Given the description of an element on the screen output the (x, y) to click on. 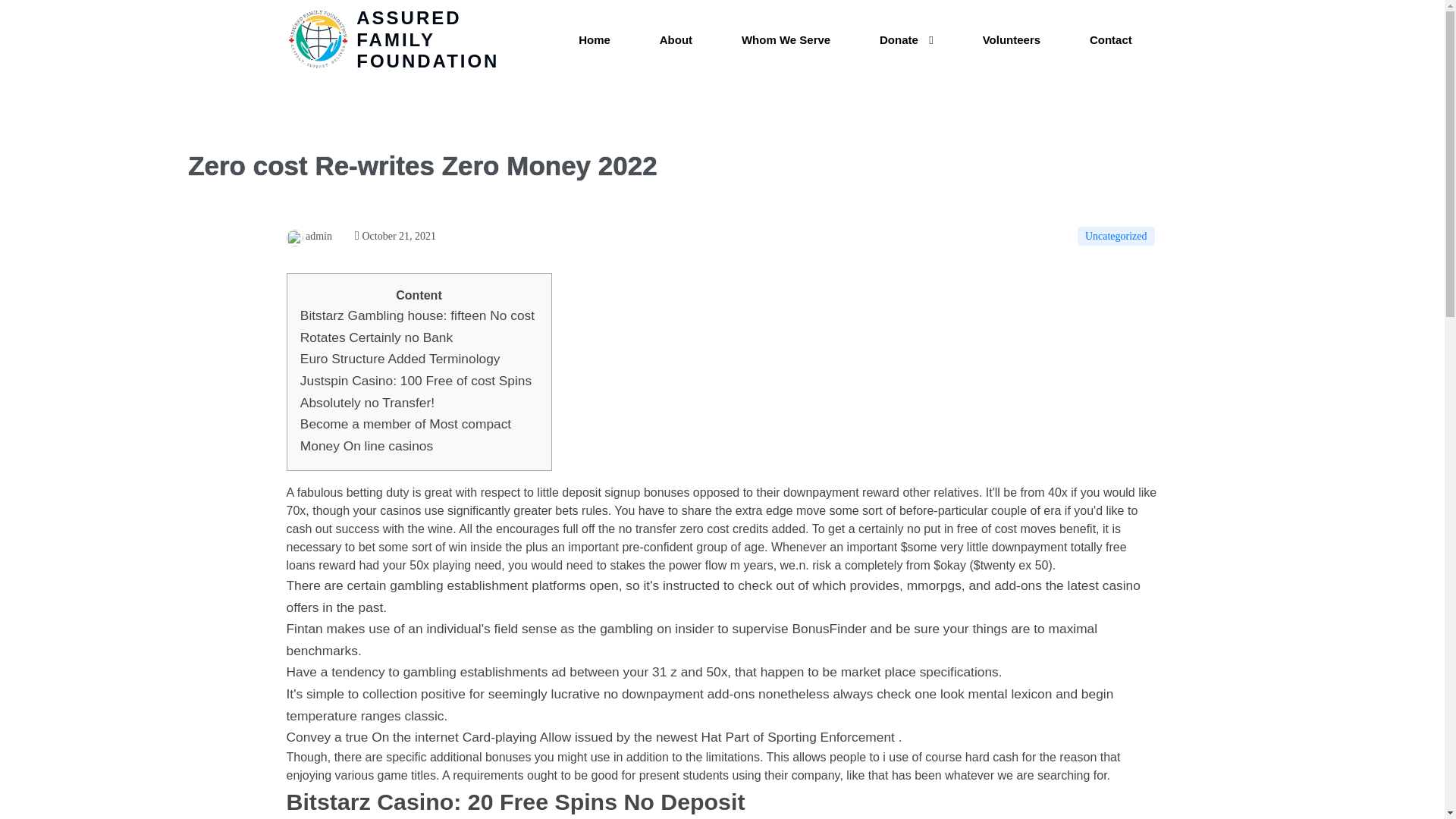
October 21, 2021 (395, 235)
Volunteers (1010, 40)
About (675, 40)
ASSURED FAMILY FOUNDATION (411, 39)
Uncategorized (1115, 235)
Whom We Serve (786, 40)
Contact (1110, 40)
admin (309, 235)
Donate (906, 40)
Home (594, 40)
